Given the description of an element on the screen output the (x, y) to click on. 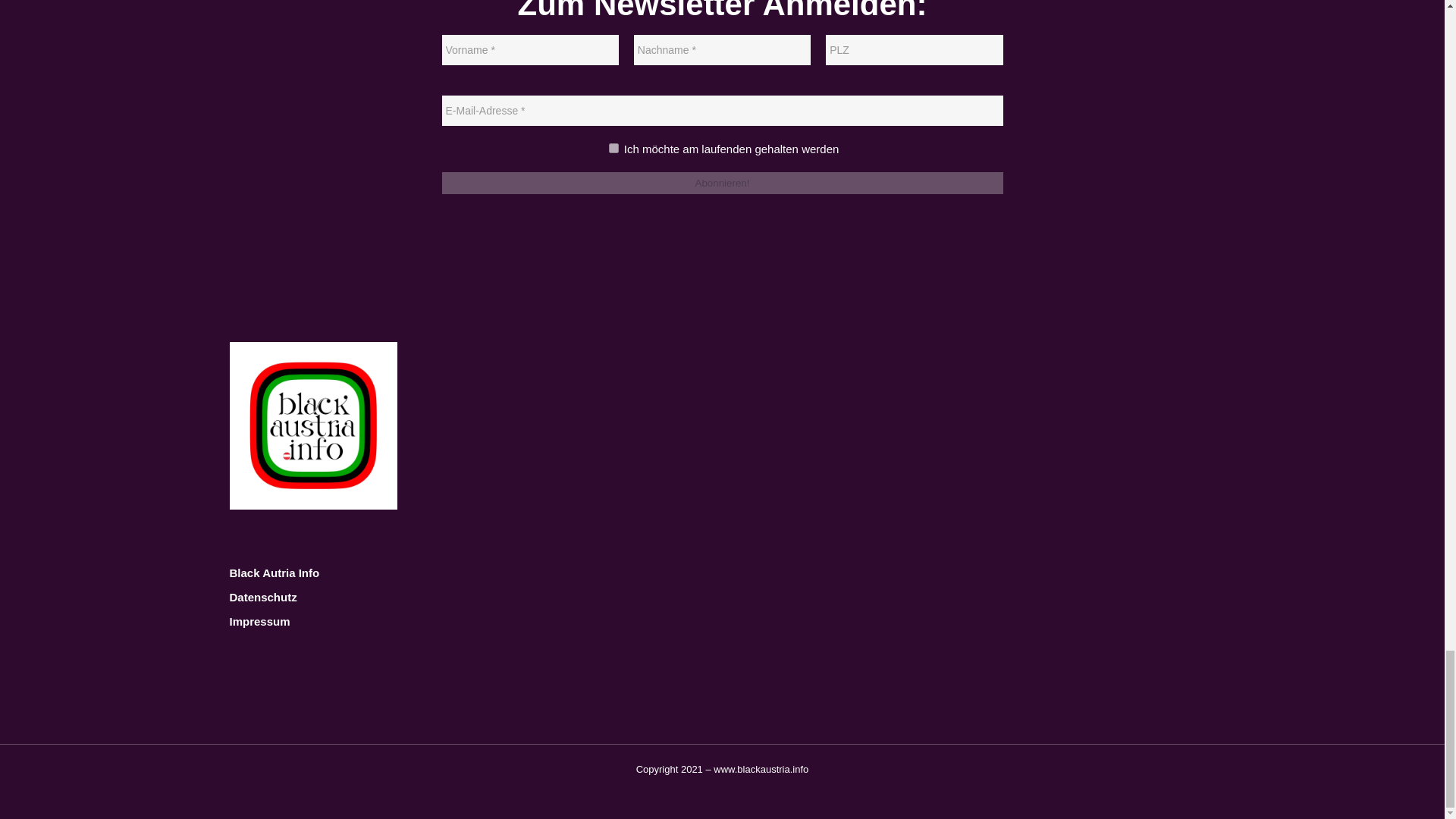
1 (613, 148)
Abonnieren! (722, 182)
